Given the description of an element on the screen output the (x, y) to click on. 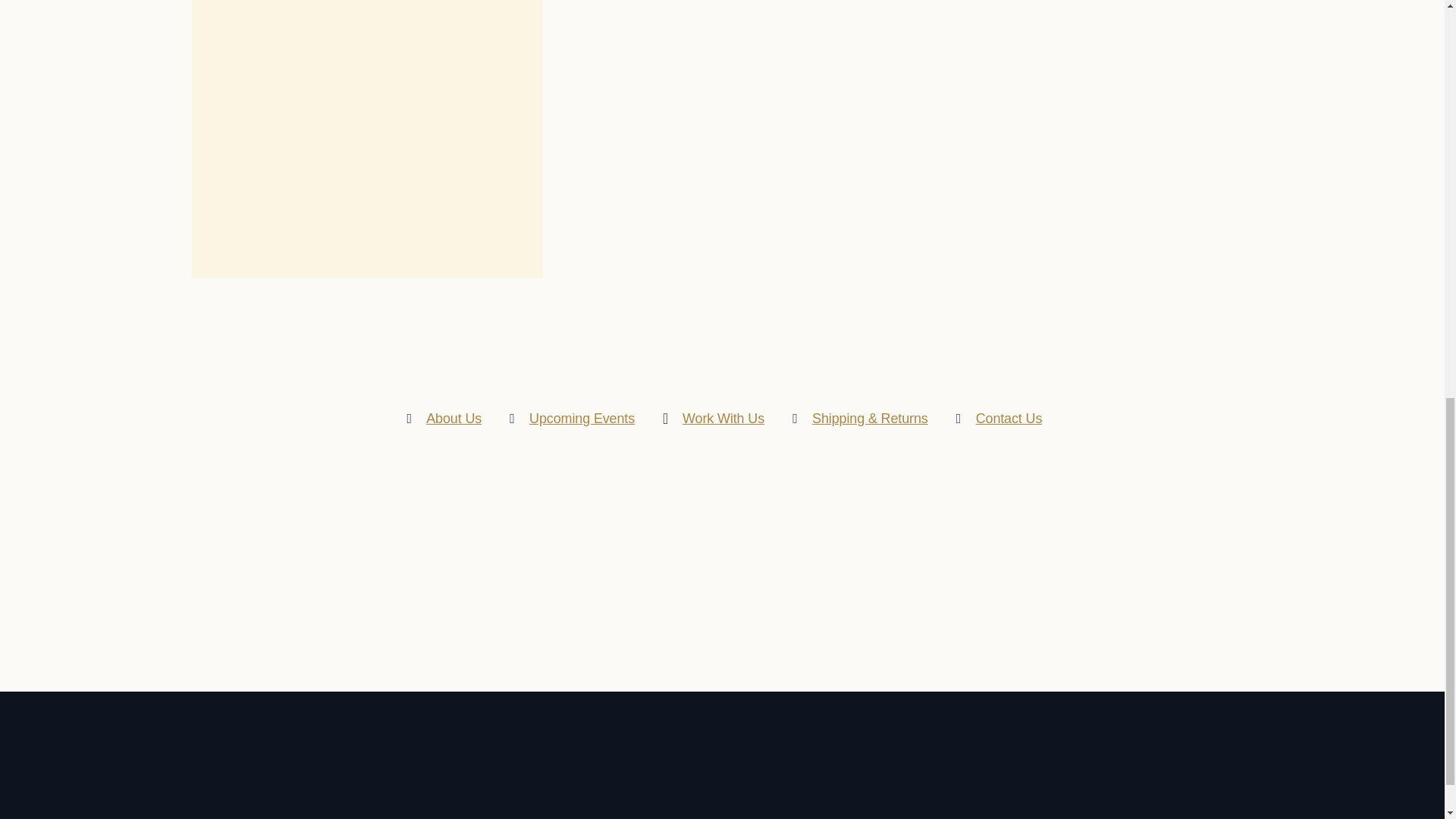
About Wrapsody (453, 418)
Work With Us (723, 418)
Wrapsody Events (581, 418)
Contact Us (1008, 418)
